Given the description of an element on the screen output the (x, y) to click on. 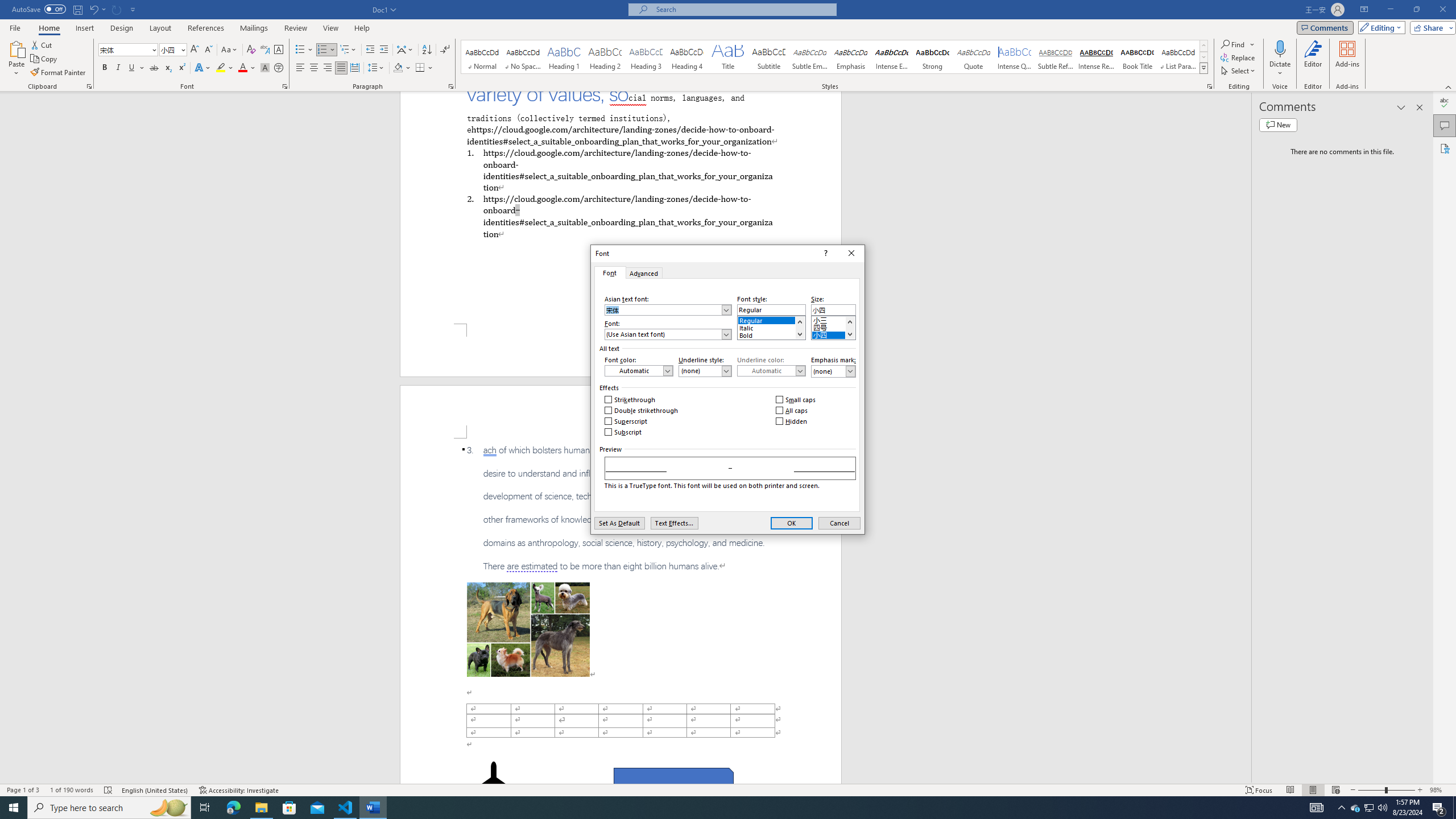
Collapse the Ribbon (1448, 86)
Context help (824, 253)
Font (124, 49)
Numbering (326, 49)
AutomationID: 4105 (1316, 807)
Strikethrough (154, 67)
Align Left (300, 67)
Design (122, 28)
Share (1430, 27)
Review (295, 28)
Read Mode (1290, 790)
File Explorer - 1 running window (261, 807)
Airplane with solid fill (493, 783)
Microsoft Store (289, 807)
Font Color (246, 67)
